Given the description of an element on the screen output the (x, y) to click on. 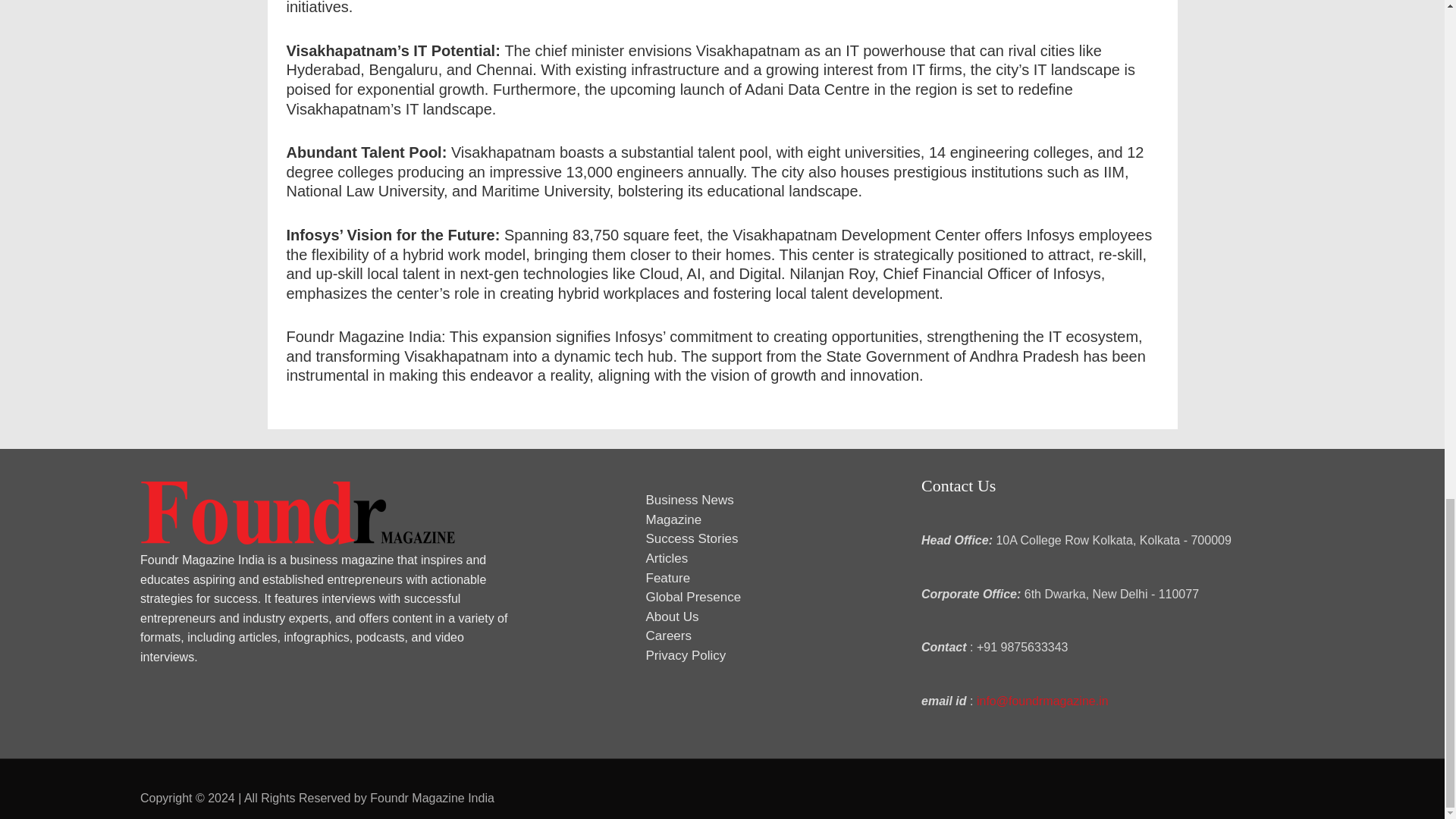
Business News (689, 499)
Success Stories (692, 538)
Articles (667, 558)
Magazine (673, 519)
